Given the description of an element on the screen output the (x, y) to click on. 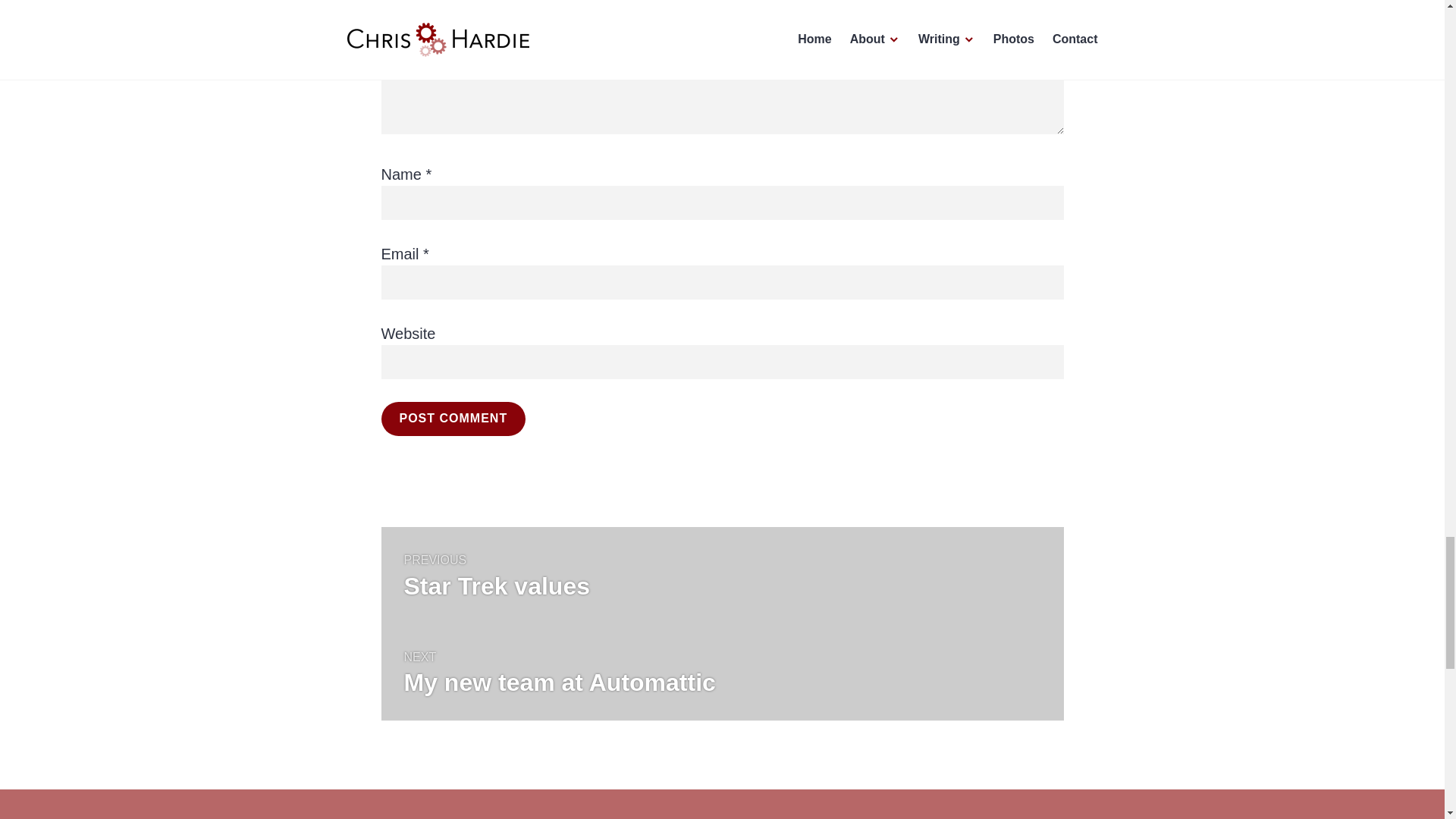
Post Comment (452, 418)
